Given the description of an element on the screen output the (x, y) to click on. 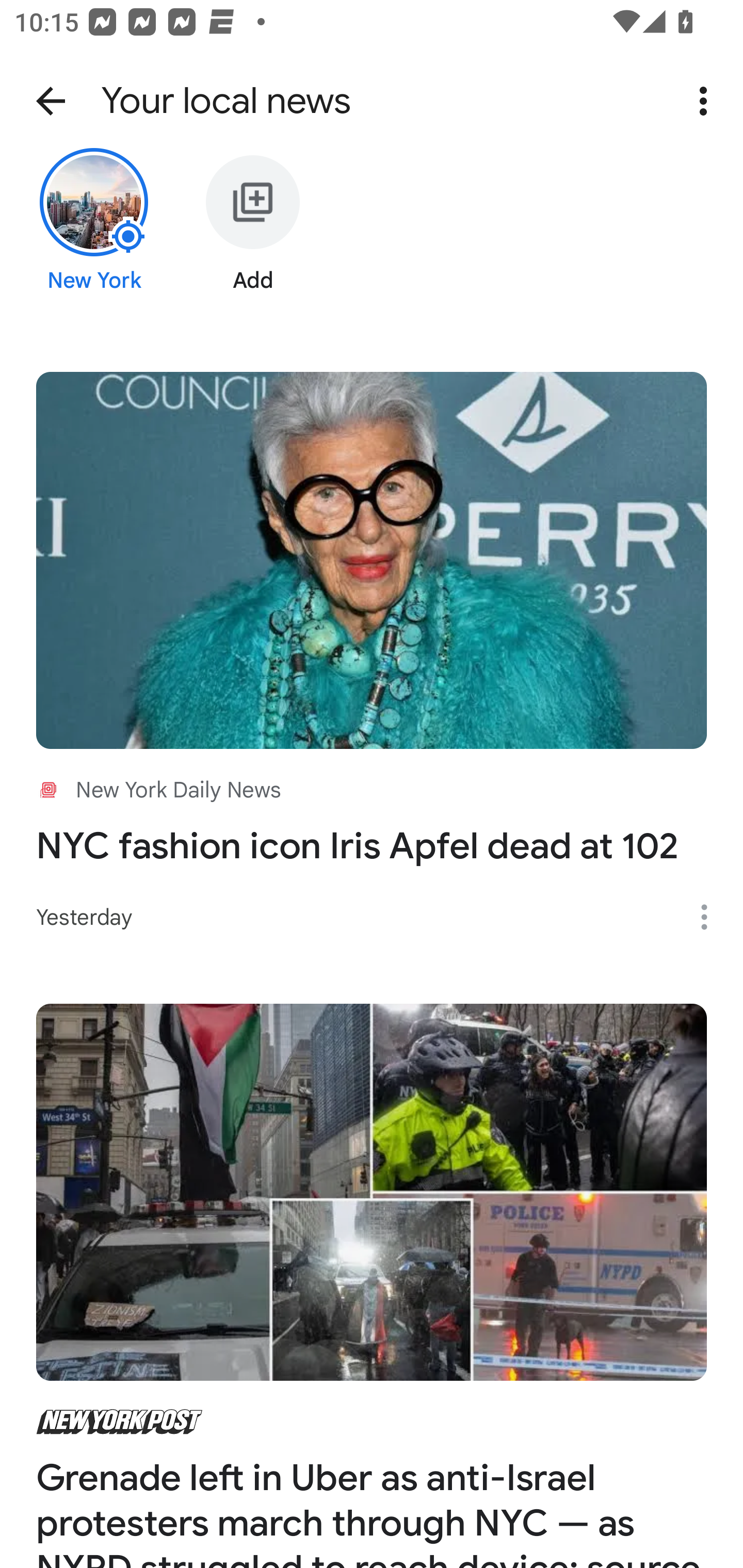
Navigate up (50, 101)
More options (706, 101)
Add (252, 235)
More options (711, 917)
